Given the description of an element on the screen output the (x, y) to click on. 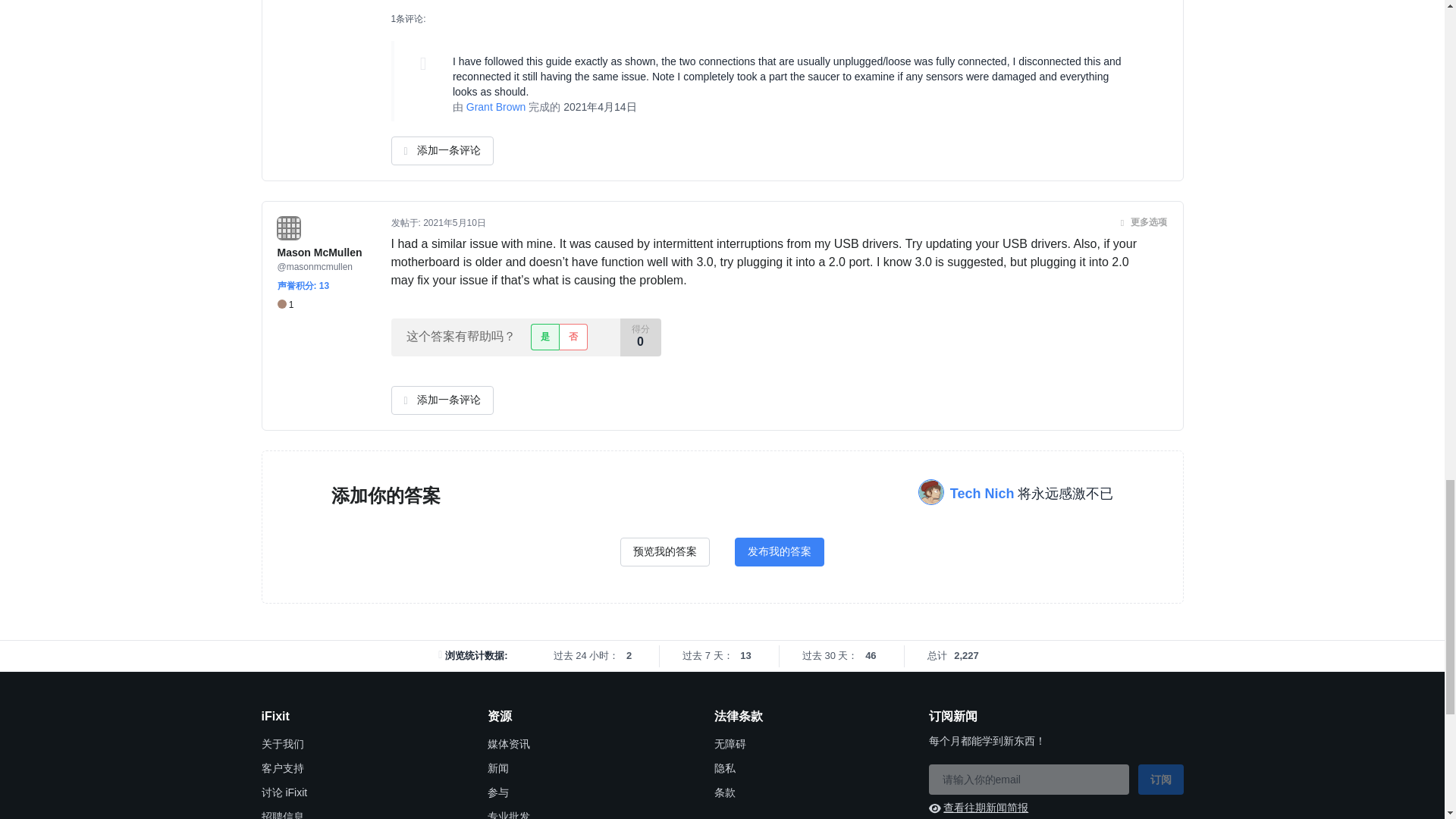
Mon, 10 May 2021 13:27:01 -0700 (454, 222)
Wed, 14 Apr 2021 18:37:08 -0700 (600, 106)
